Given the description of an element on the screen output the (x, y) to click on. 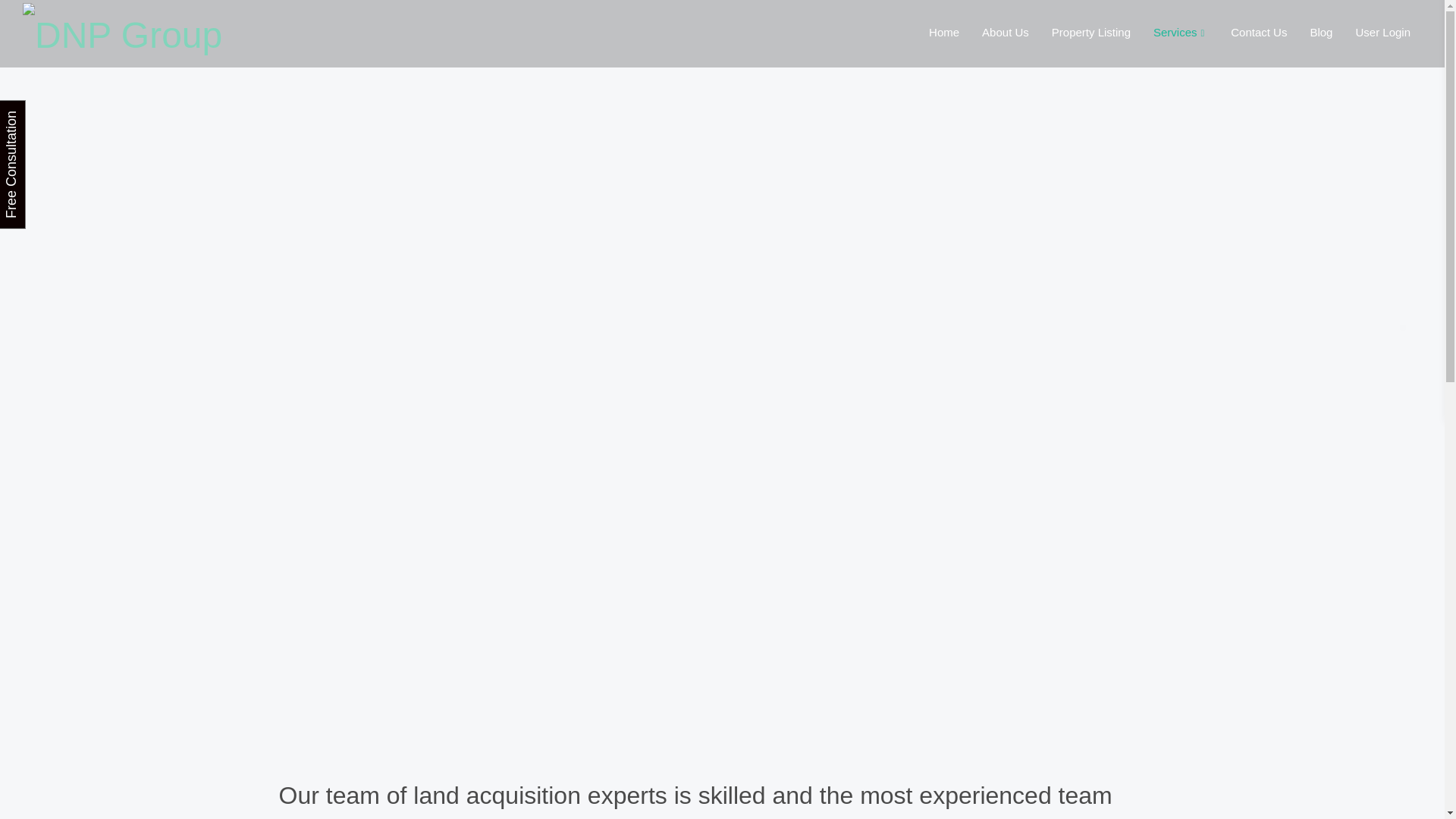
Property Listing (1091, 32)
DNP Group (122, 32)
About Us (1006, 32)
Services (1180, 32)
User Login (1382, 32)
Contact Us (1259, 32)
